Given the description of an element on the screen output the (x, y) to click on. 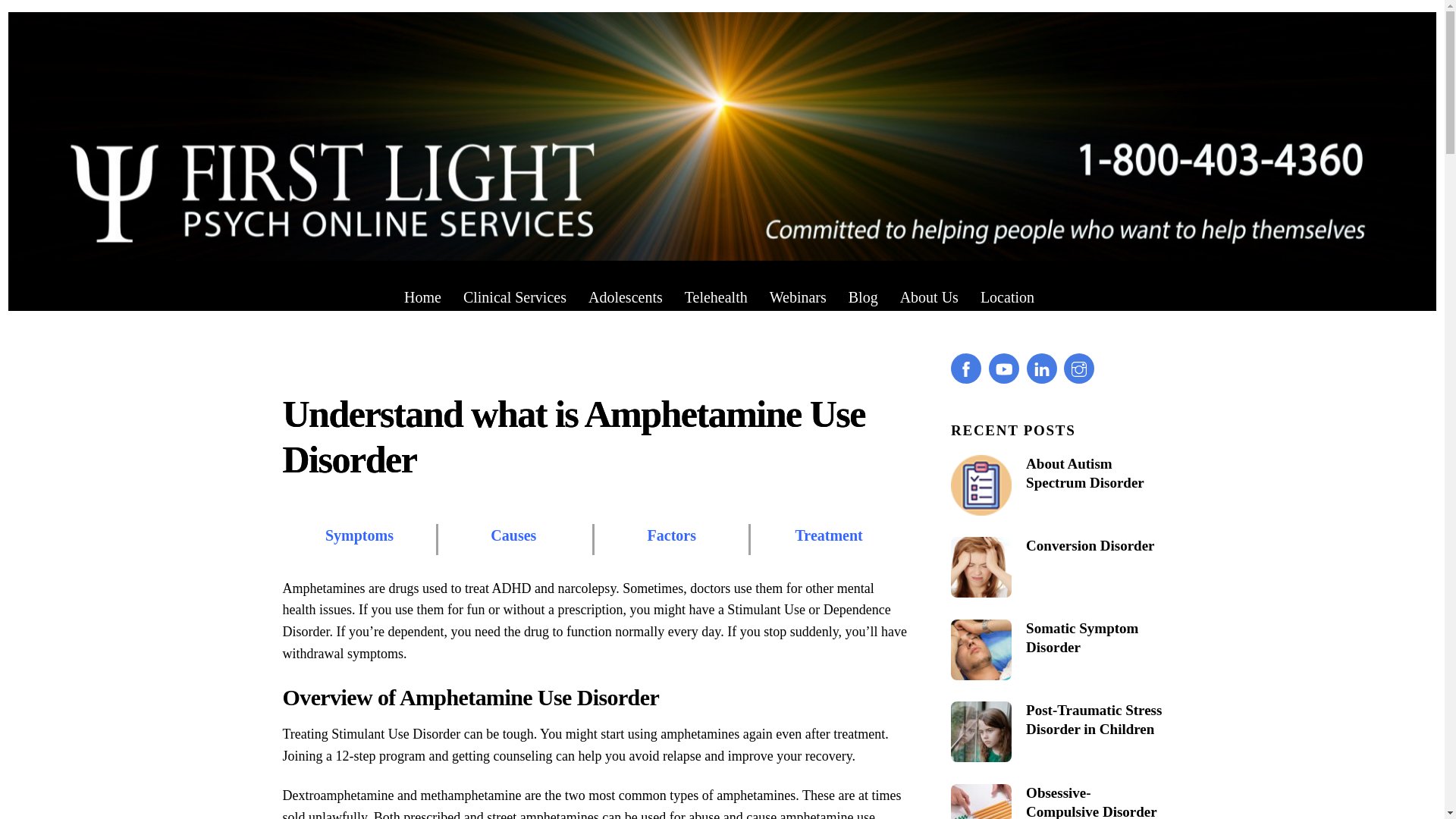
Post-Traumatic Stress Disorder in Children (1055, 719)
Home (421, 297)
Adolescents (625, 297)
Webinars (797, 297)
About Autism Spectrum Disorder (1055, 473)
Treatment (828, 535)
About Us (929, 297)
